Given the description of an element on the screen output the (x, y) to click on. 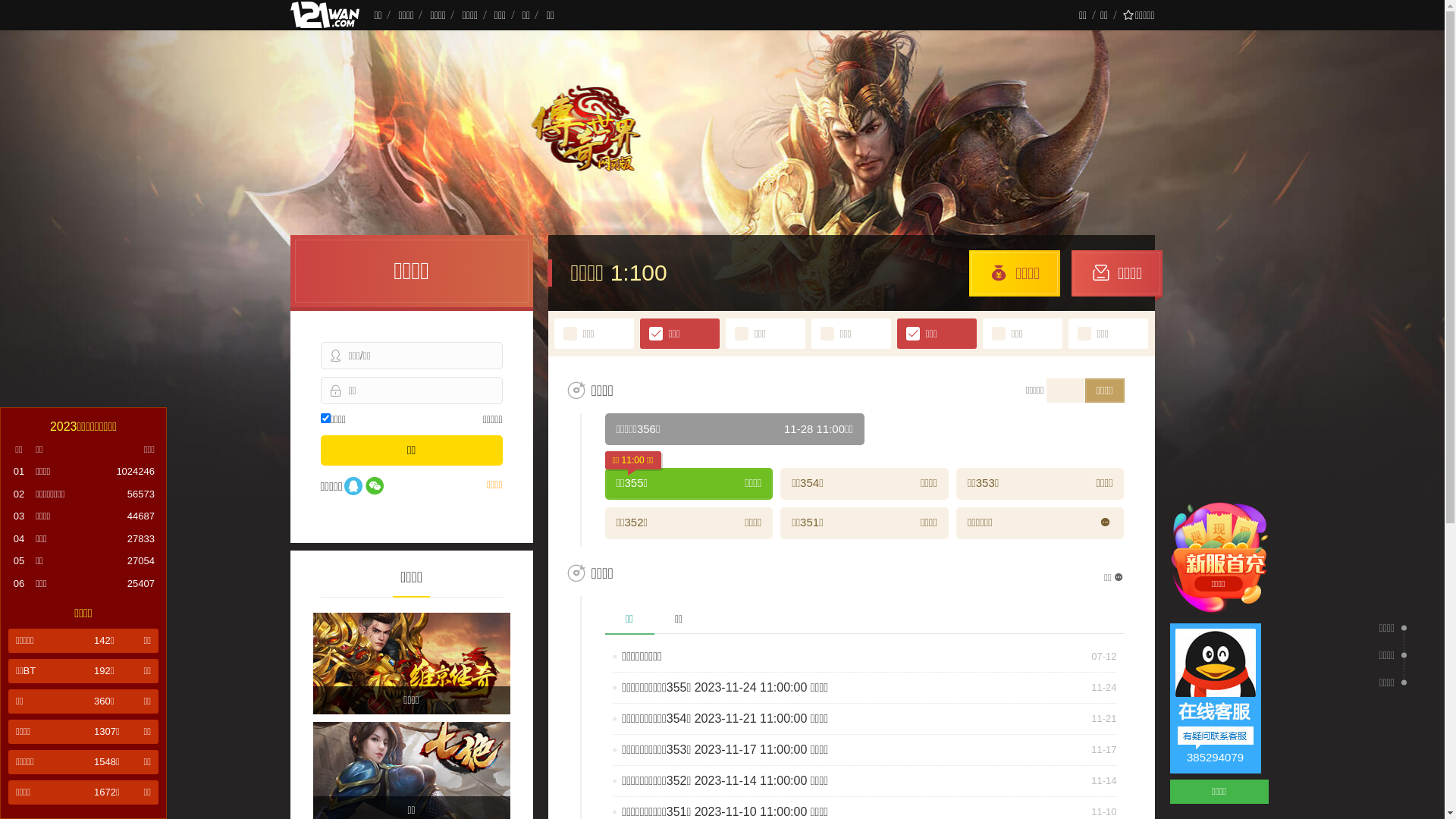
QQ Element type: hover (353, 486)
385294079 Element type: text (1214, 698)
